Given the description of an element on the screen output the (x, y) to click on. 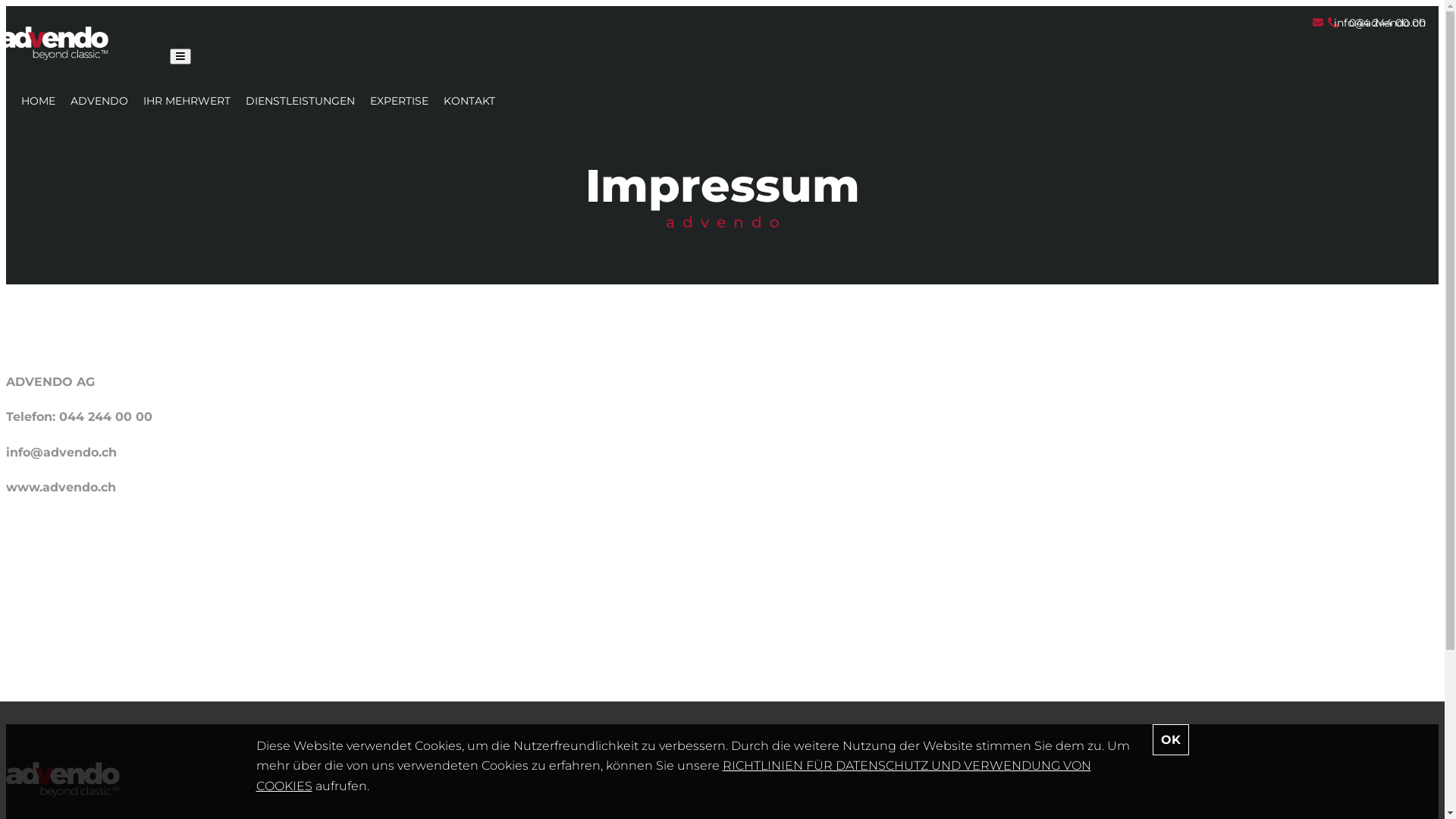
KONTAKT Element type: text (469, 100)
EXPERTISE Element type: text (399, 100)
info@advendo.ch Element type: text (1368, 22)
ADVENDO Element type: text (99, 100)
HOME Element type: text (38, 100)
OK Element type: text (1170, 739)
044 244 00 00 Element type: text (1376, 22)
DIENSTLEISTUNGEN Element type: text (299, 100)
IHR MEHRWERT Element type: text (186, 100)
